Given the description of an element on the screen output the (x, y) to click on. 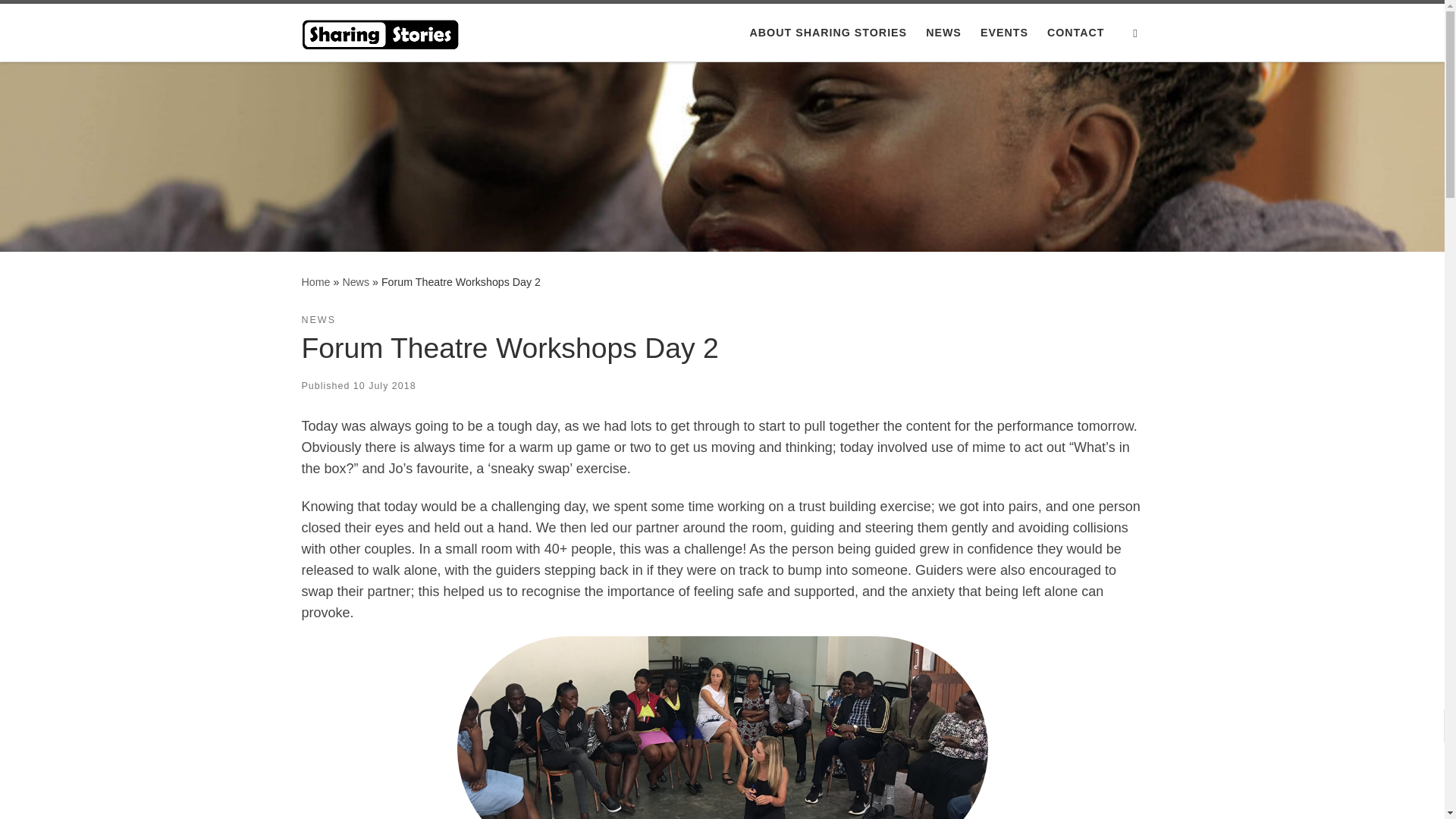
News (355, 282)
NEWS (318, 319)
Sharing Stories Venture (315, 282)
10 July 2018 (384, 385)
News (355, 282)
8:04 am (384, 385)
Search (1135, 32)
NEWS (943, 32)
ABOUT SHARING STORIES (827, 32)
EVENTS (1004, 32)
Skip to content (60, 20)
Home (315, 282)
View all posts in News (318, 319)
CONTACT (1075, 32)
